Given the description of an element on the screen output the (x, y) to click on. 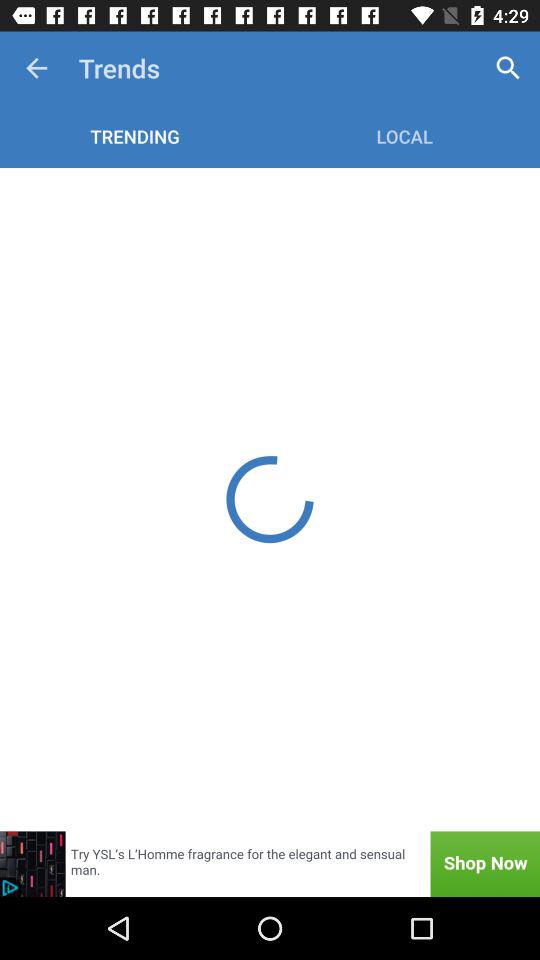
select the item next to trends app (508, 67)
